Given the description of an element on the screen output the (x, y) to click on. 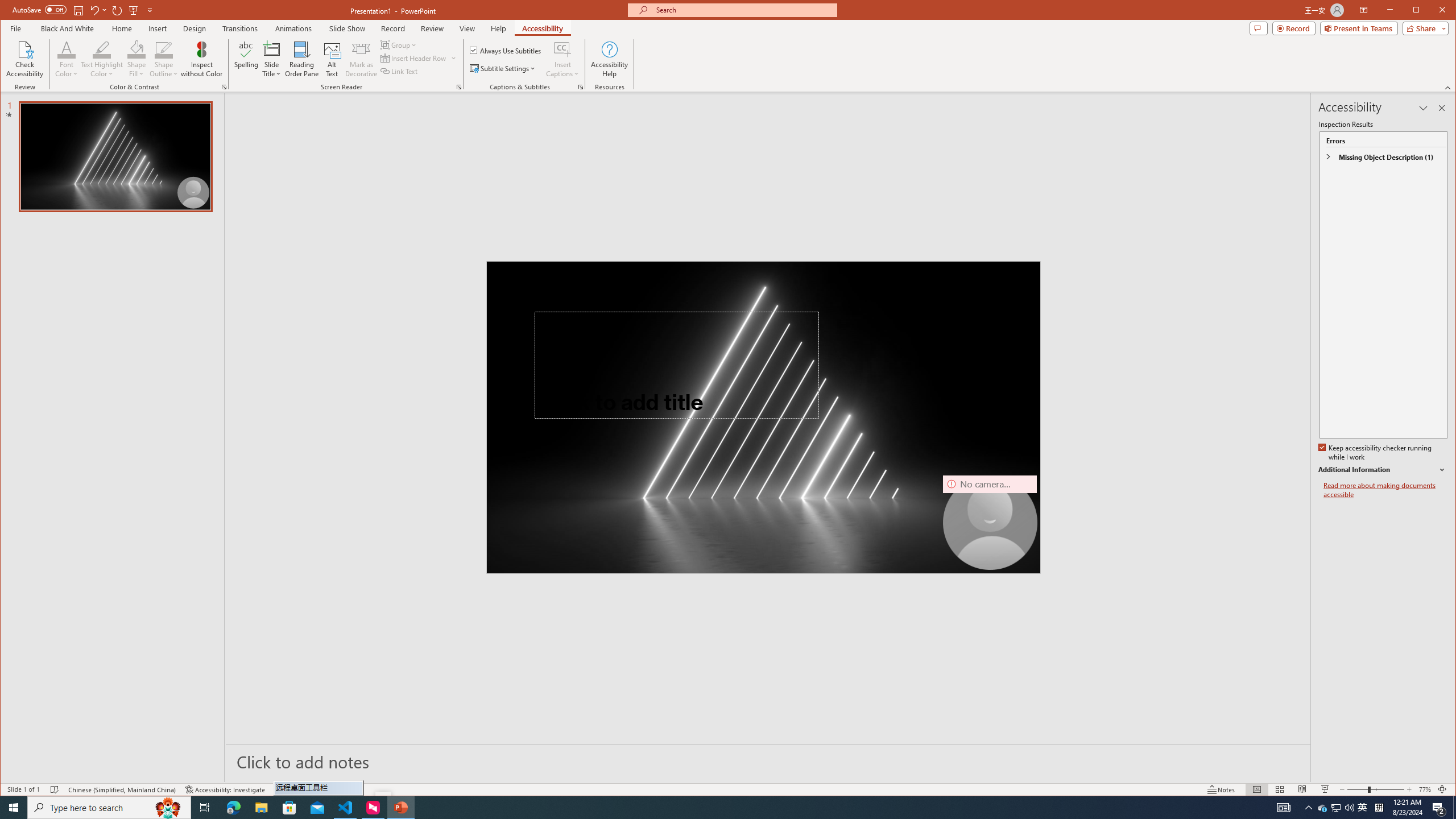
Screen Reader (458, 86)
